Given the description of an element on the screen output the (x, y) to click on. 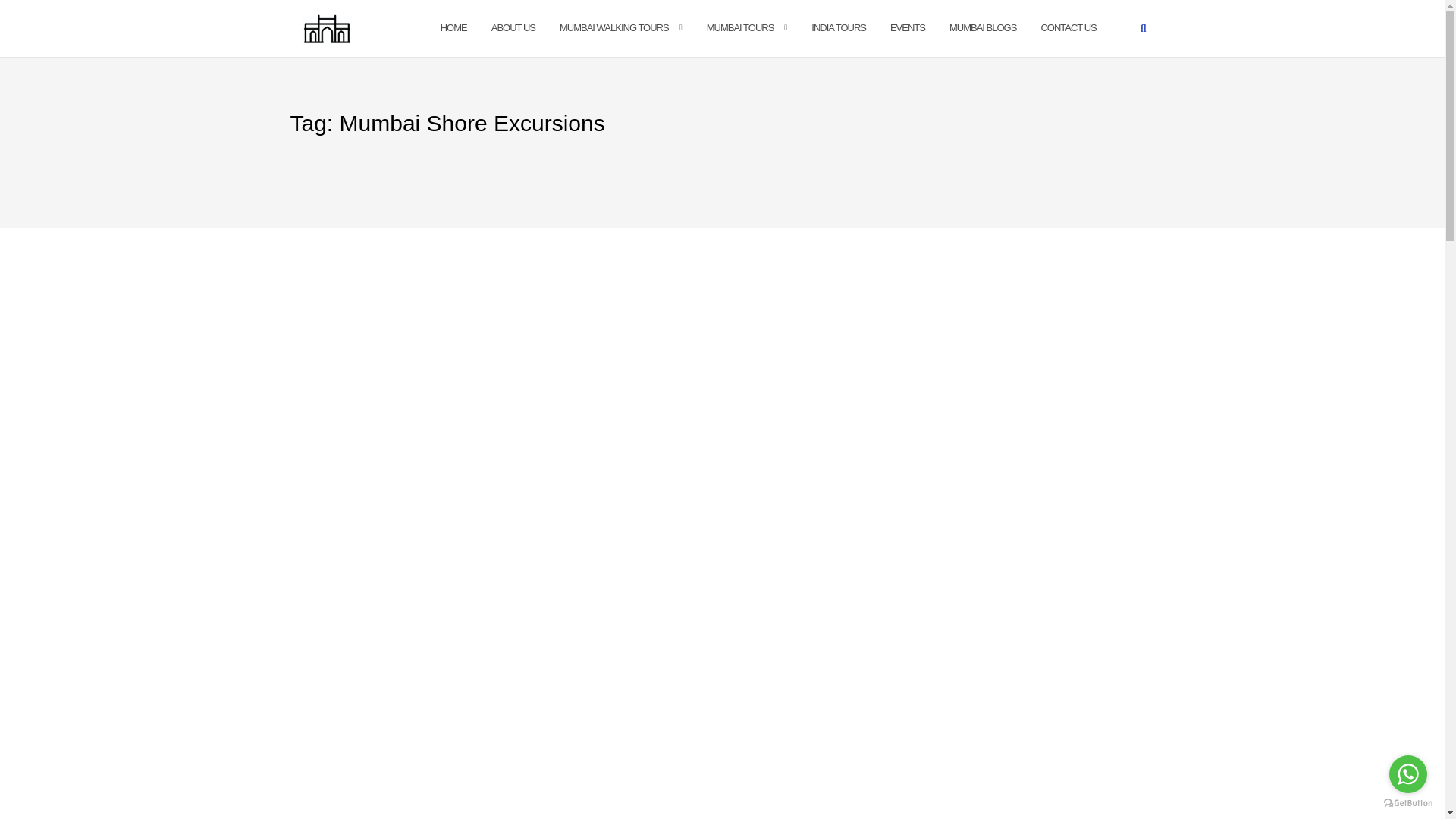
MUMBAI BLOGS (982, 28)
Mumbai Tours (740, 28)
Mumbai Walking Tours (613, 28)
MUMBAI WALKING TOURS (613, 28)
CONTACT US (1068, 28)
ABOUT US (513, 28)
INDIA TOURS (838, 28)
MUMBAI TOURS (740, 28)
About us (513, 28)
